Given the description of an element on the screen output the (x, y) to click on. 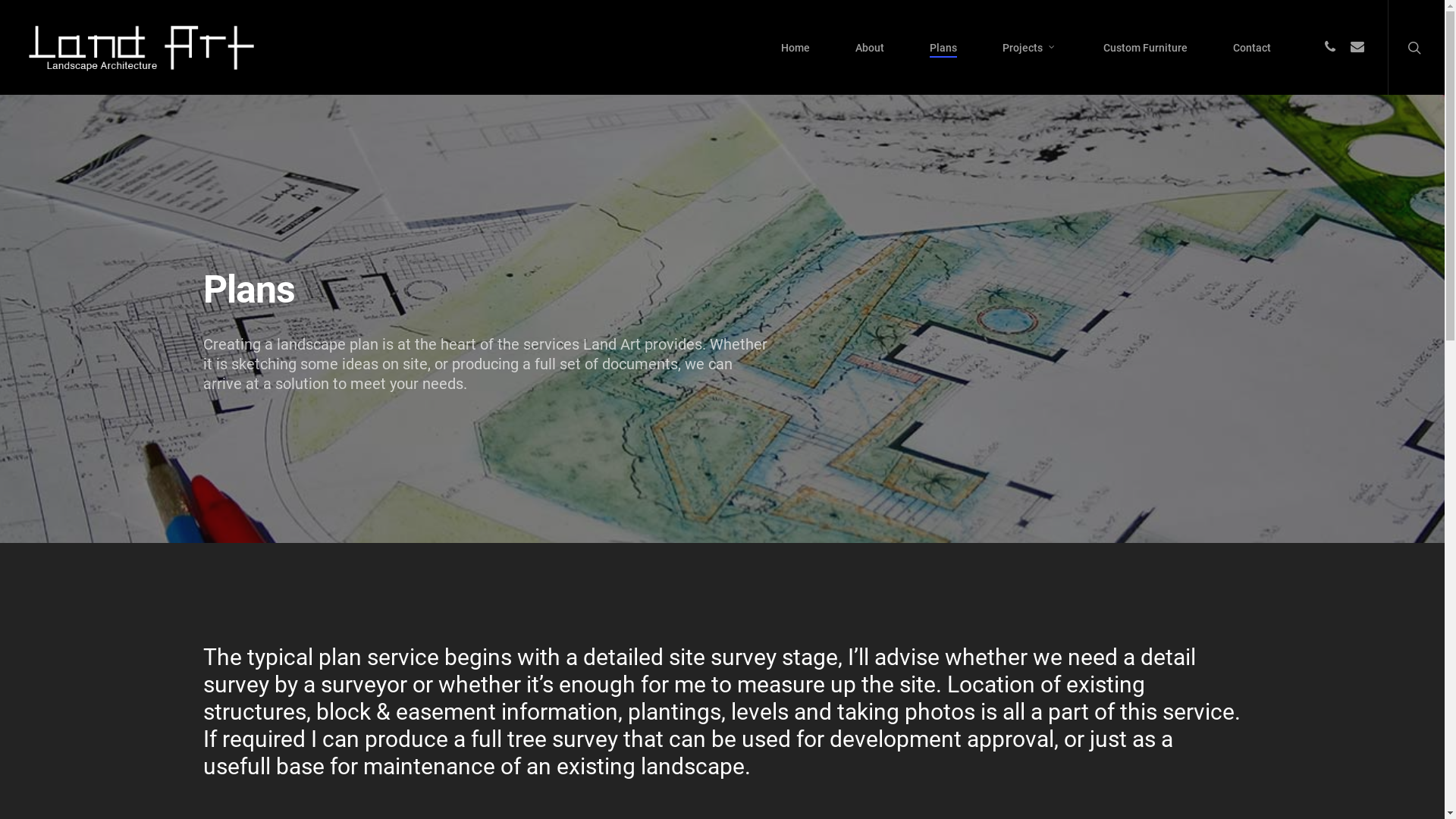
Home Element type: text (795, 47)
About Element type: text (869, 47)
Custom Furniture Element type: text (1145, 47)
Projects Element type: text (1029, 47)
Plans Element type: text (943, 47)
Contact Element type: text (1251, 47)
